Given the description of an element on the screen output the (x, y) to click on. 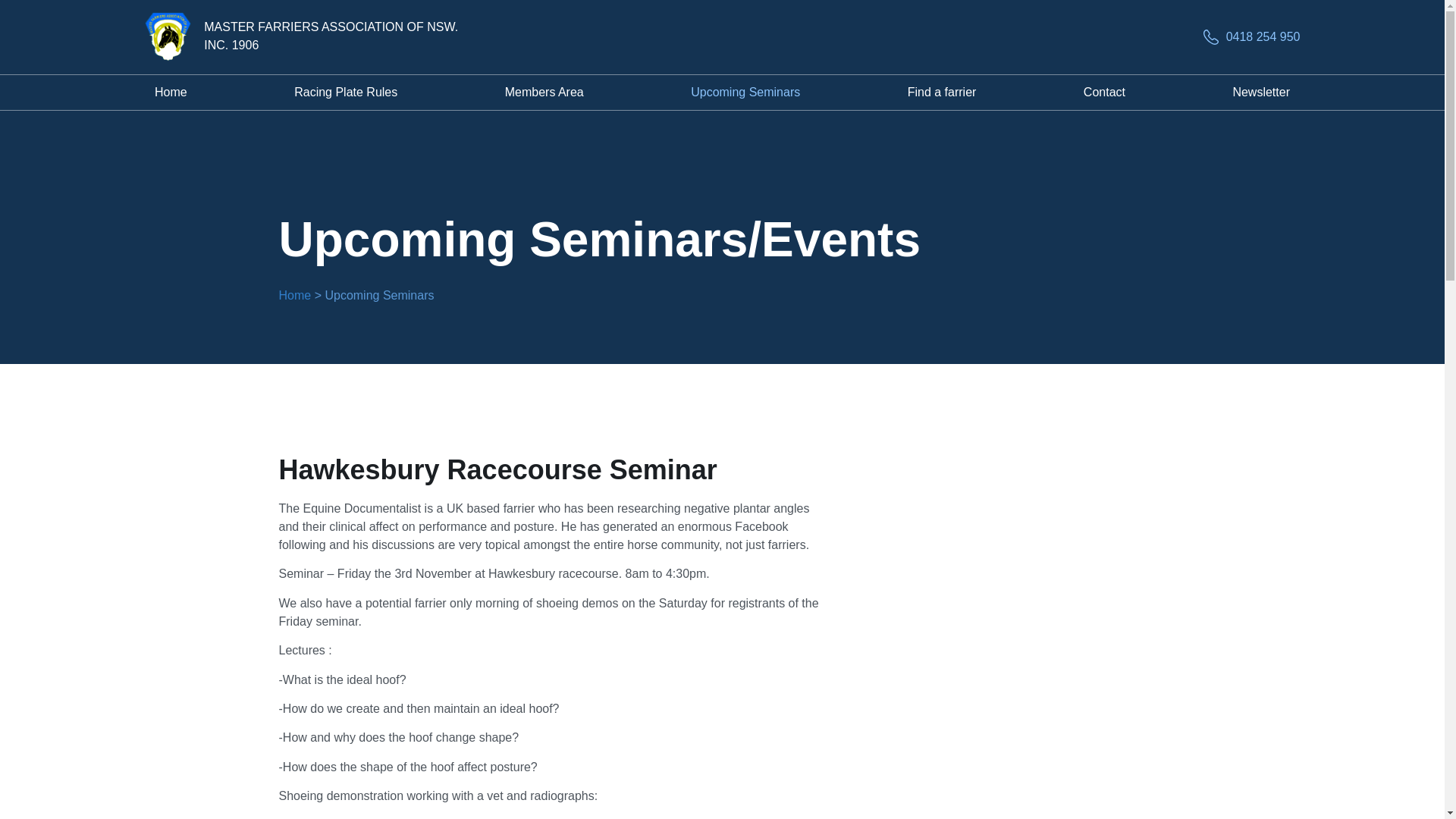
0418 254 950 (1252, 36)
MASTER FARRIERS ASSOCIATION OF NSW. INC. 1906 (330, 35)
Upcoming Seminars (745, 92)
Newsletter (1261, 92)
Members Area (544, 92)
Contact (1104, 92)
Home (295, 295)
Racing Plate Rules (345, 92)
Home (170, 92)
Find a farrier (941, 92)
